Given the description of an element on the screen output the (x, y) to click on. 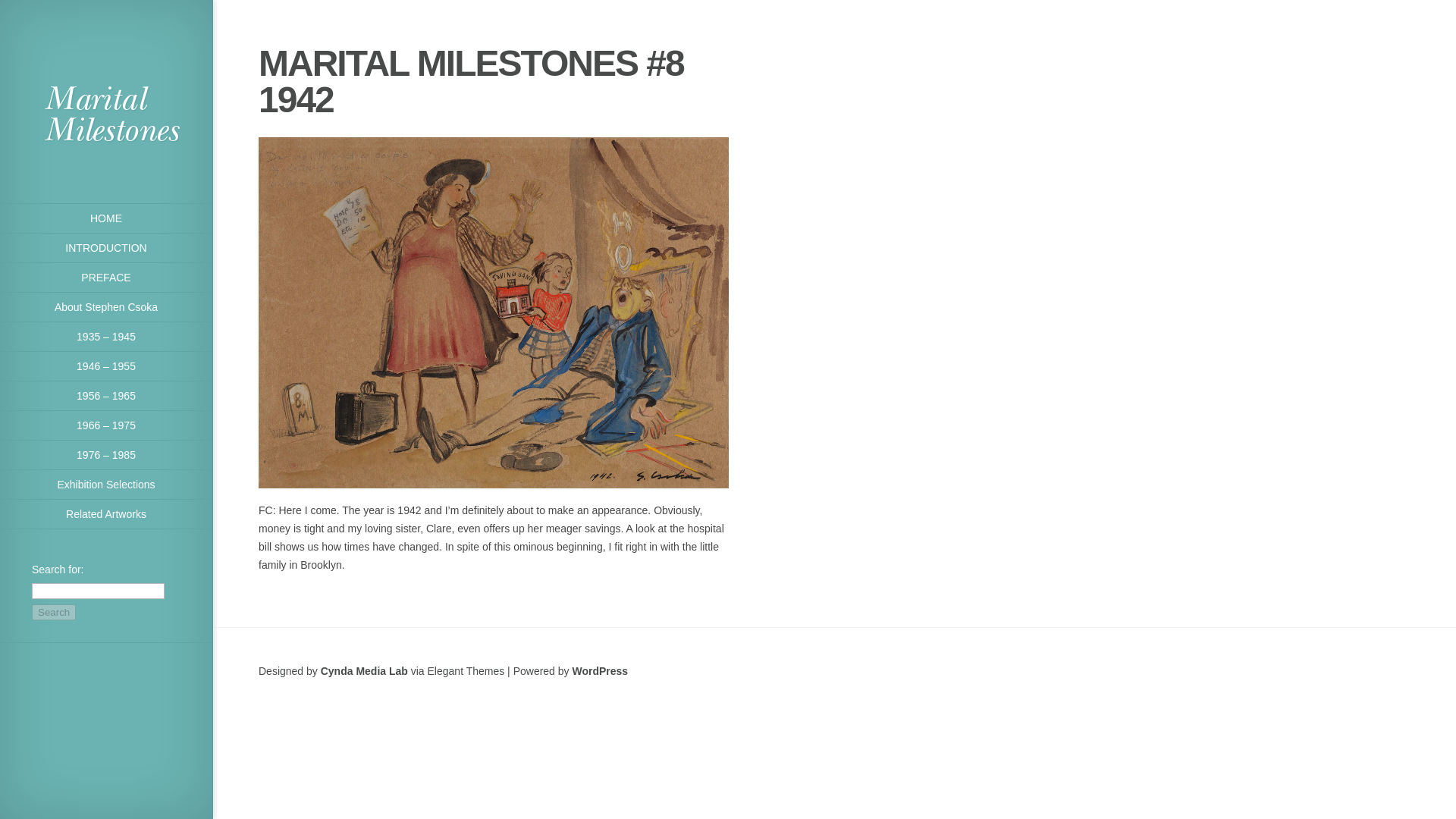
About Stephen Csoka (106, 307)
Related Artworks (106, 514)
WordPress (599, 671)
Search (53, 611)
Exhibition Selections (106, 484)
Premium WordPress Themes (363, 671)
PREFACE (106, 277)
Cynda Media Lab (363, 671)
Search (53, 611)
INTRODUCTION (106, 247)
HOME (106, 218)
